Given the description of an element on the screen output the (x, y) to click on. 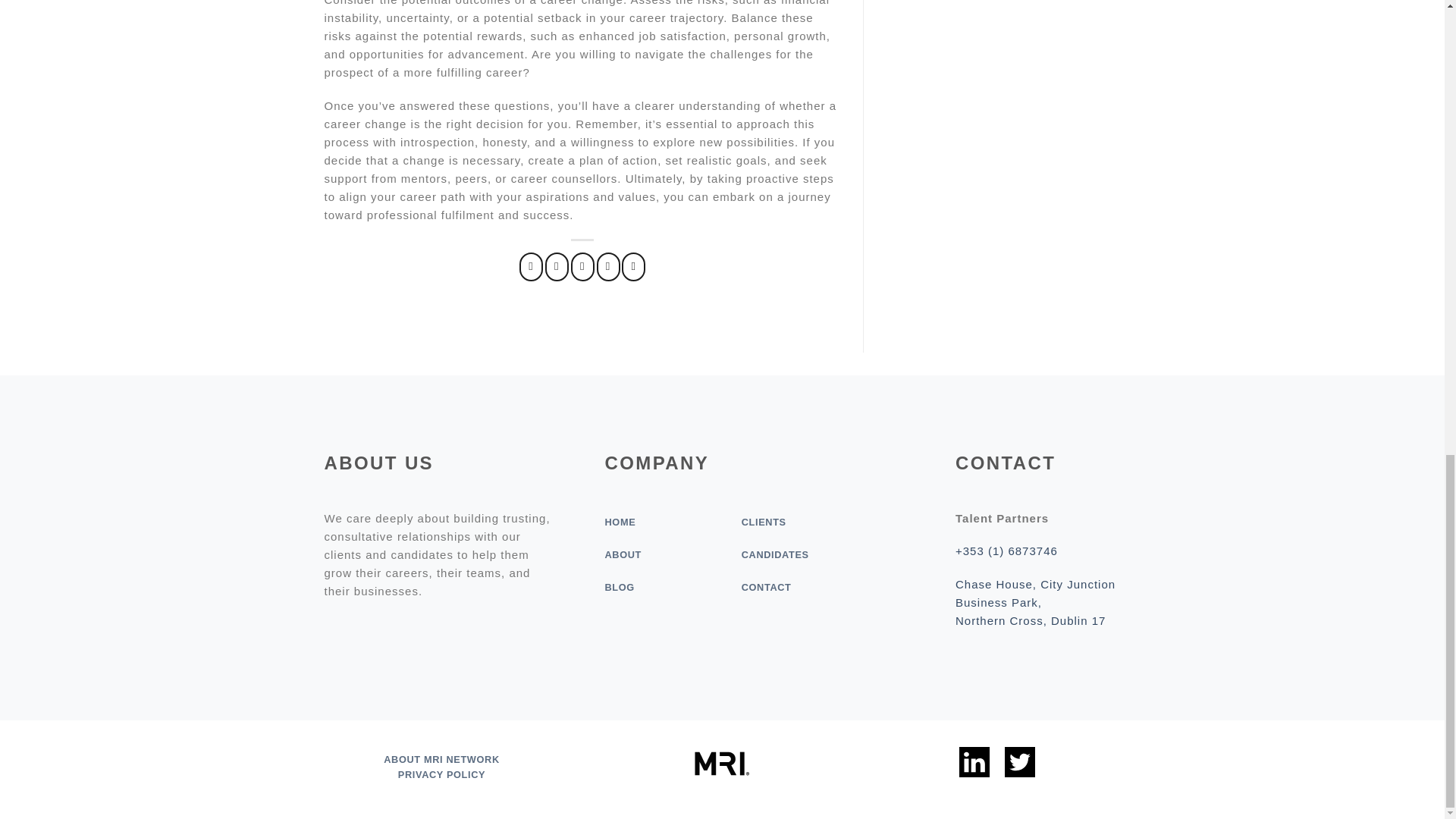
CLIENTS (763, 521)
CONTACT (766, 586)
PRIVACY POLICY (440, 774)
ABOUT (623, 554)
ABOUT MRI NETWORK (441, 758)
HOME (619, 521)
CANDIDATES (775, 554)
BLOG (618, 586)
